Given the description of an element on the screen output the (x, y) to click on. 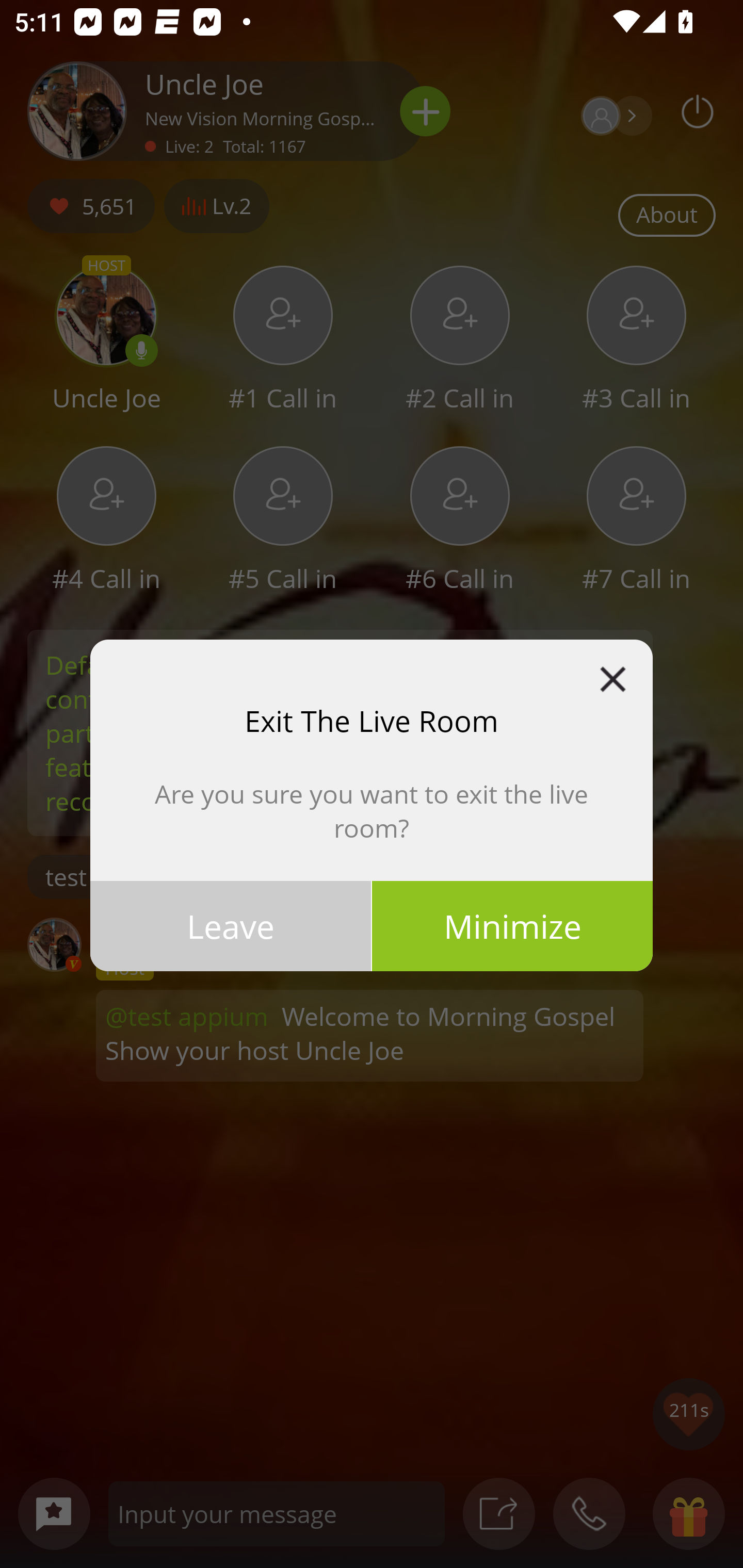
Podbean (612, 678)
Leave (230, 925)
Minimize (512, 925)
